Given the description of an element on the screen output the (x, y) to click on. 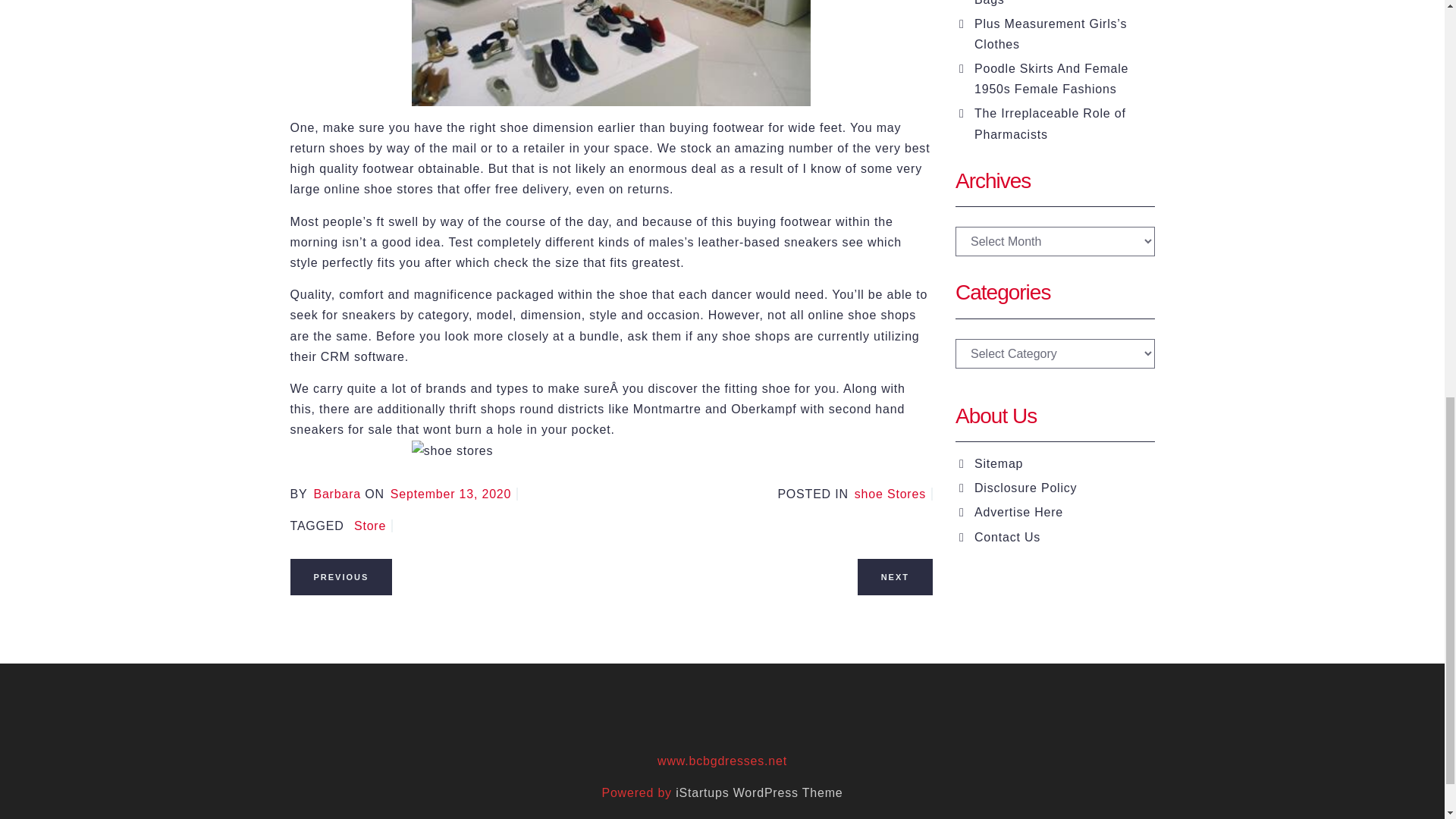
NEXT (895, 576)
September 13, 2020 (454, 493)
PREVIOUS (340, 576)
Shoe Stores (893, 493)
Store (373, 525)
Barbara (337, 493)
PREVIOUS (340, 575)
NEXT (895, 575)
